Given the description of an element on the screen output the (x, y) to click on. 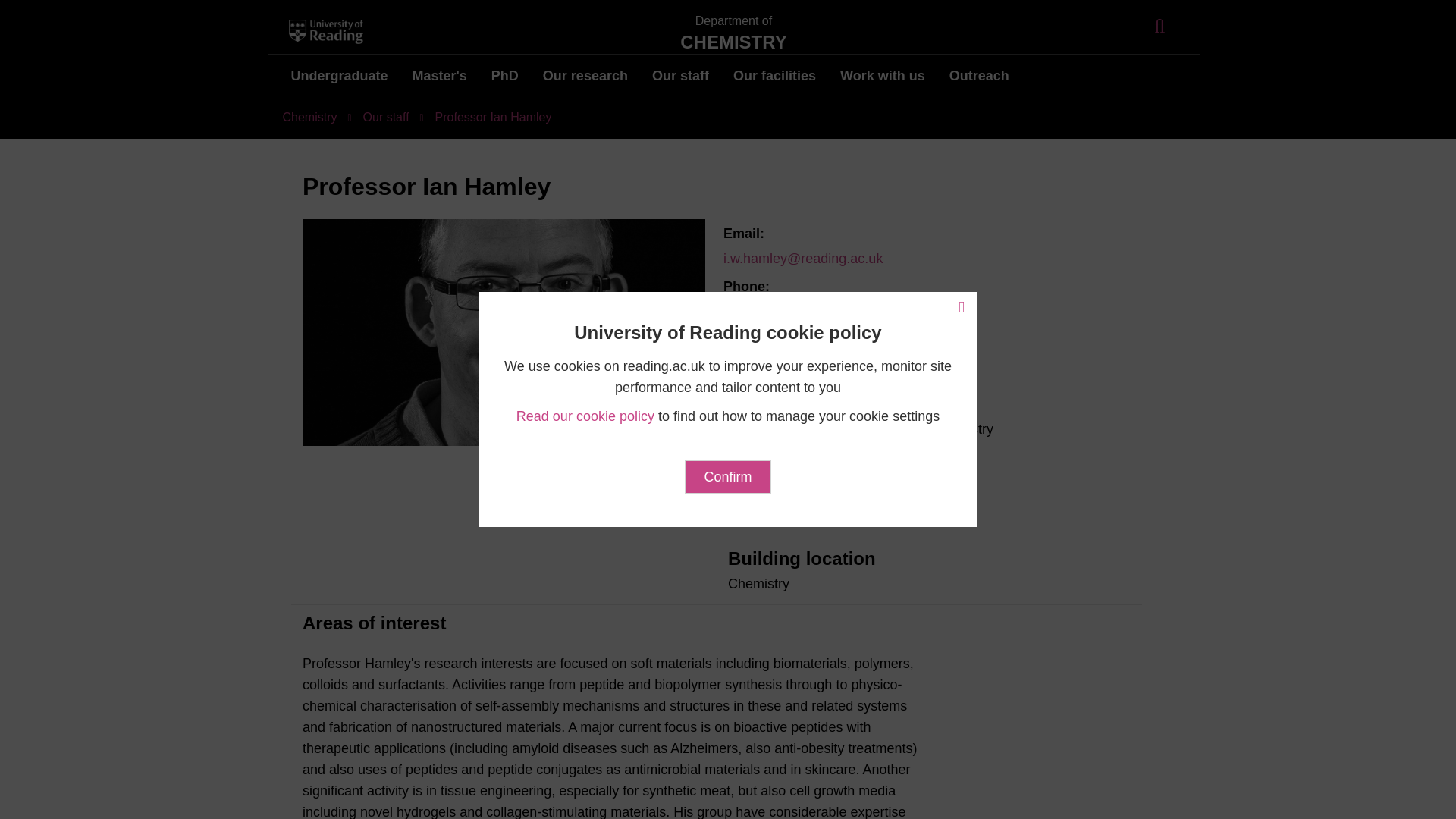
University of Reading Home (328, 31)
Chemistry (732, 41)
CHEMISTRY (732, 41)
Read our cookie policy (584, 416)
Confirm (727, 476)
